Given the description of an element on the screen output the (x, y) to click on. 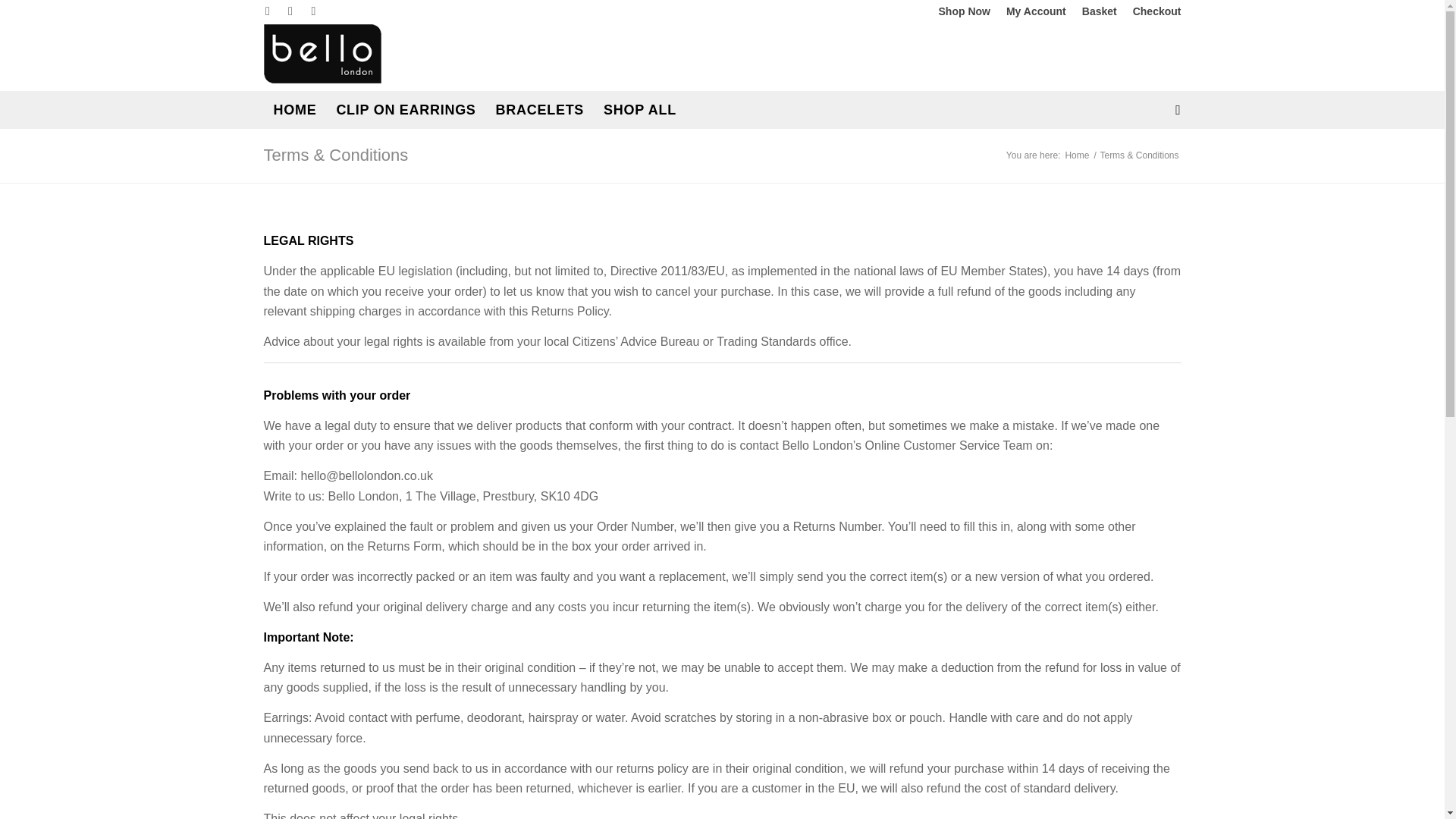
Clip On Earrings by Bello London (405, 109)
HOME (294, 109)
Bracelets by Bello London (540, 109)
SHOP ALL (639, 109)
Instagram (312, 11)
X (290, 11)
BRACELETS (540, 109)
Shop Now (964, 11)
Checkout (1156, 11)
Facebook (267, 11)
